Given the description of an element on the screen output the (x, y) to click on. 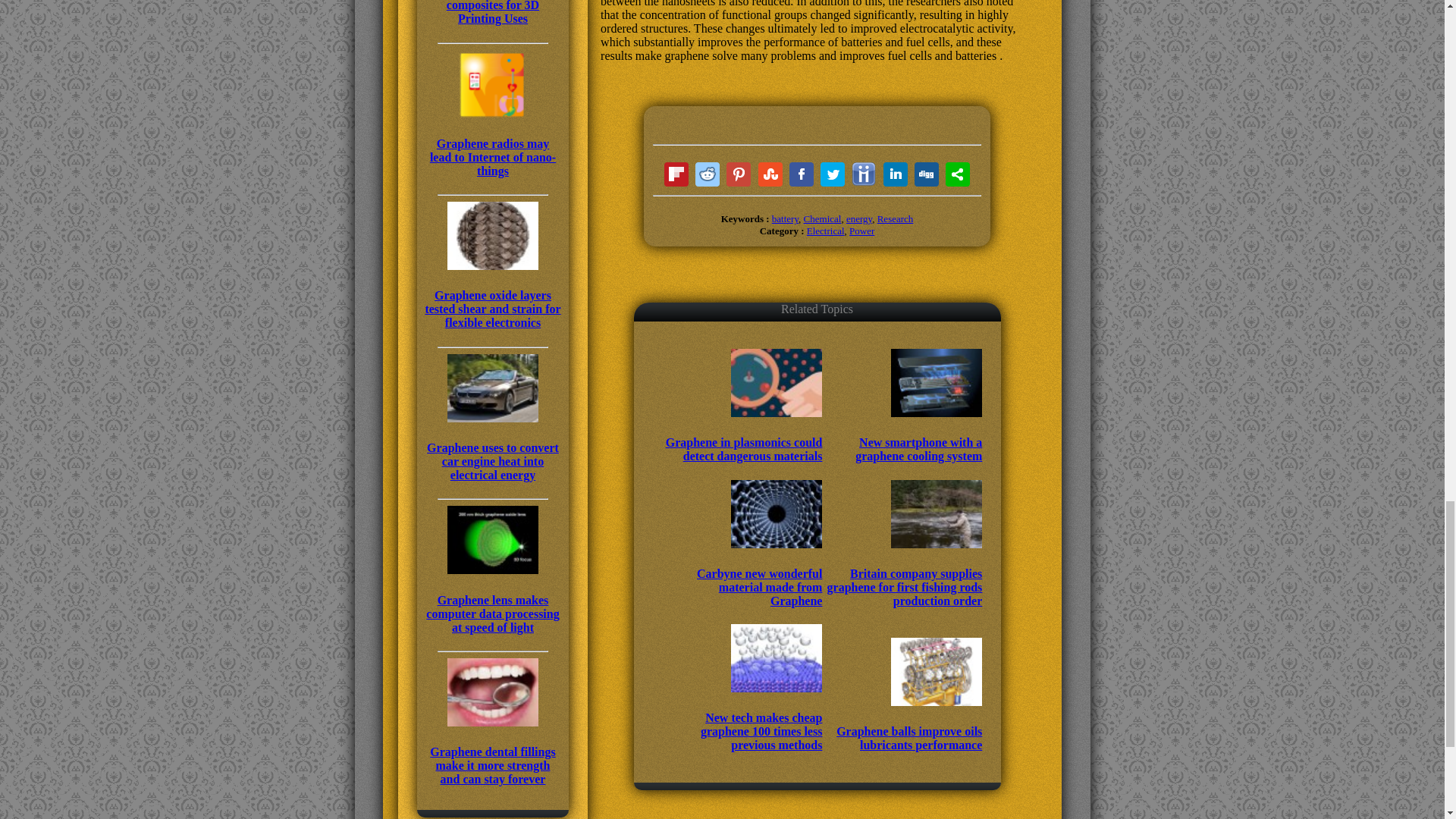
New Graphene composites for 3D Printing Uses (492, 12)
energy (858, 218)
Carbyne new wonderful material made from Graphene (743, 572)
Research (895, 218)
Power (861, 230)
Electrical (825, 230)
Graphene in plasmonics could detect dangerous materials (743, 434)
Graphene radios may lead to Internet of nano-things (492, 142)
Chemical (822, 218)
New smartphone with a graphene cooling system (903, 434)
battery (784, 218)
